Given the description of an element on the screen output the (x, y) to click on. 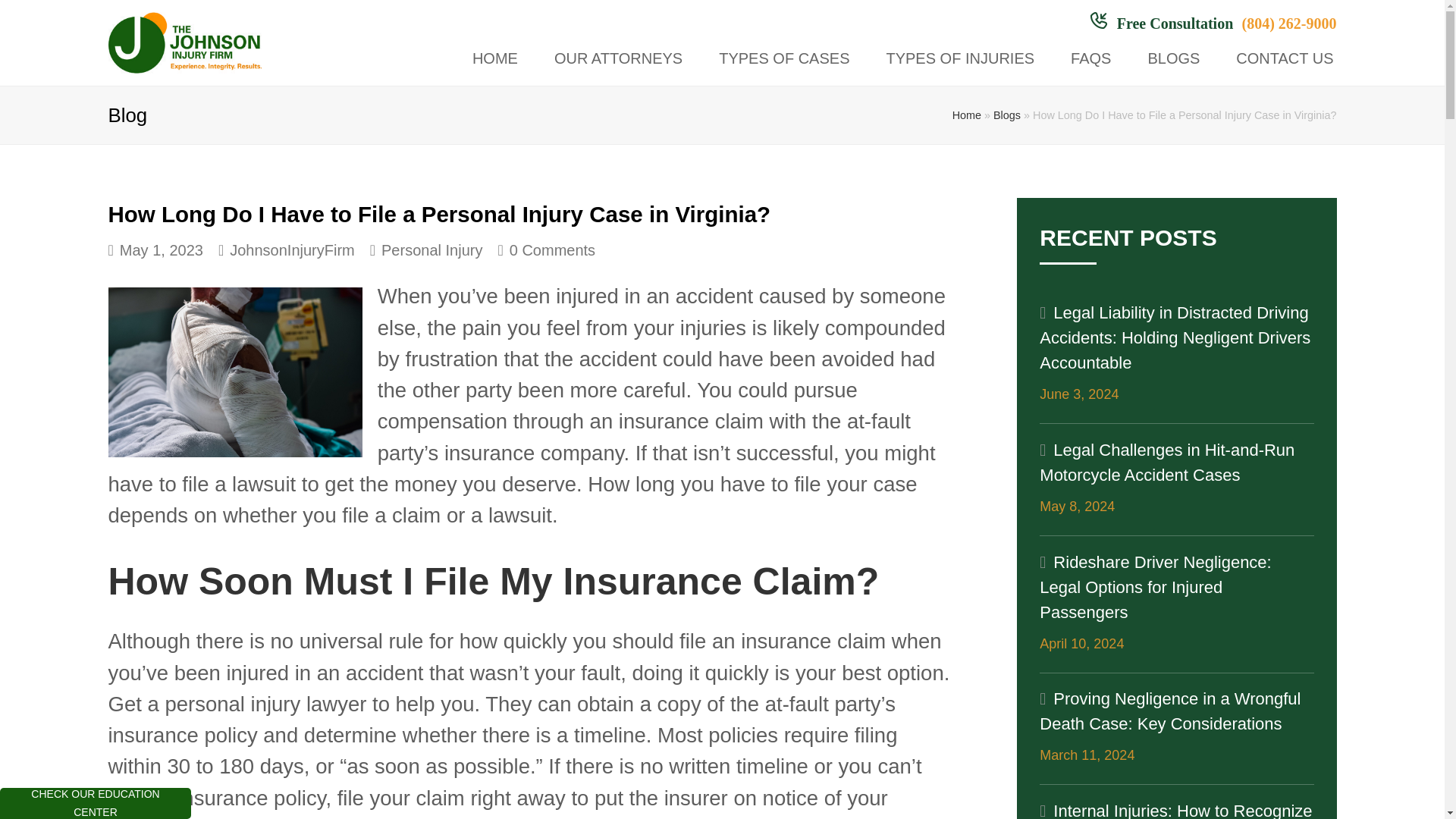
0 Comments (546, 250)
Posts by JohnsonInjuryFirm (292, 249)
CONTACT US (1284, 58)
BLOGS (1173, 58)
HOME (494, 58)
TYPES OF INJURIES (959, 58)
FAQS (1090, 58)
TYPES OF CASES (783, 58)
OUR ATTORNEYS (618, 58)
Personal Injury (431, 249)
